Given the description of an element on the screen output the (x, y) to click on. 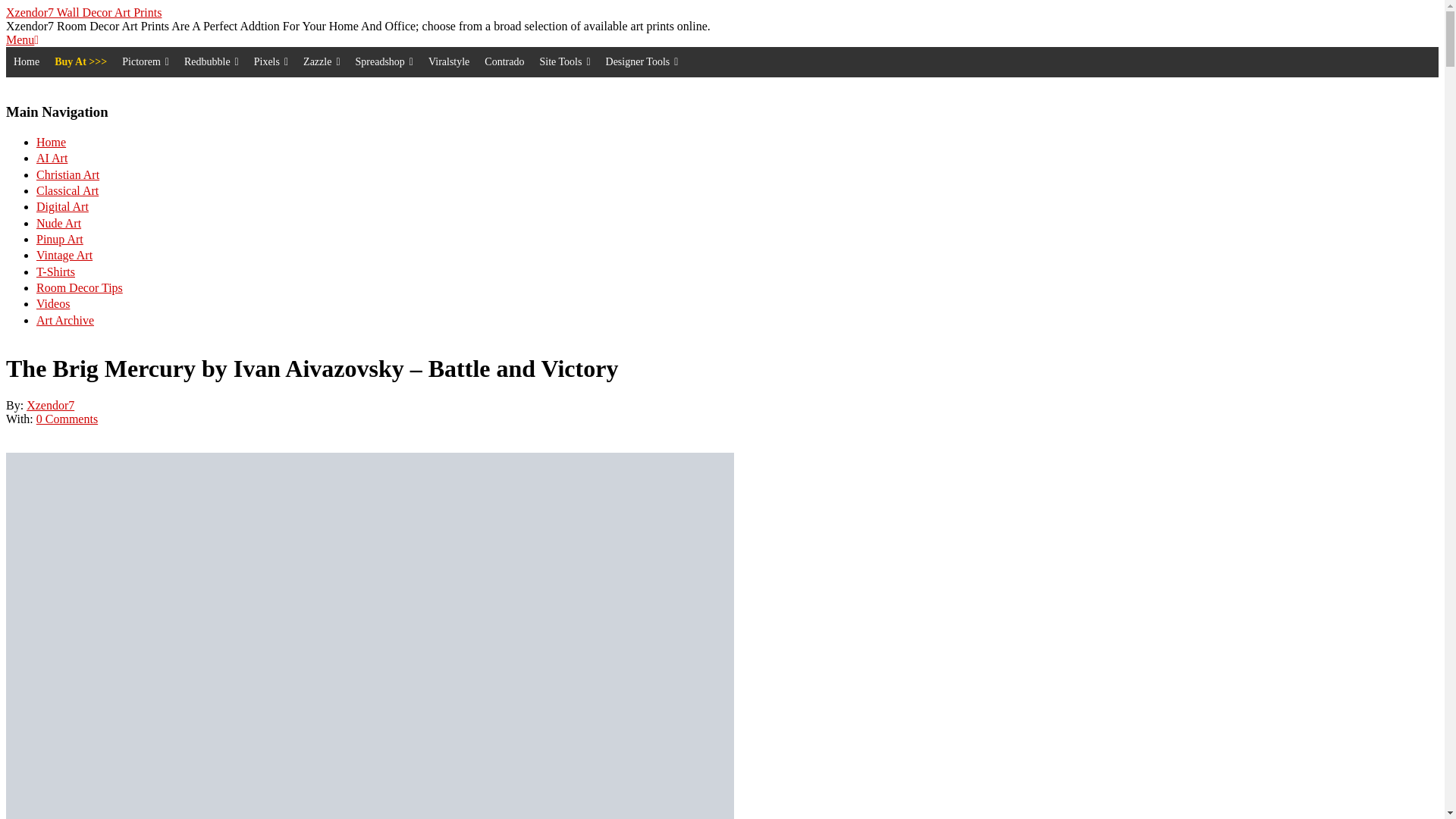
Menu (22, 39)
Home (25, 61)
Pictorem (145, 61)
Redbubble (211, 61)
Xzendor7 Wall Decor Art Prints (83, 11)
Posts by Xzendor7 (50, 404)
